Given the description of an element on the screen output the (x, y) to click on. 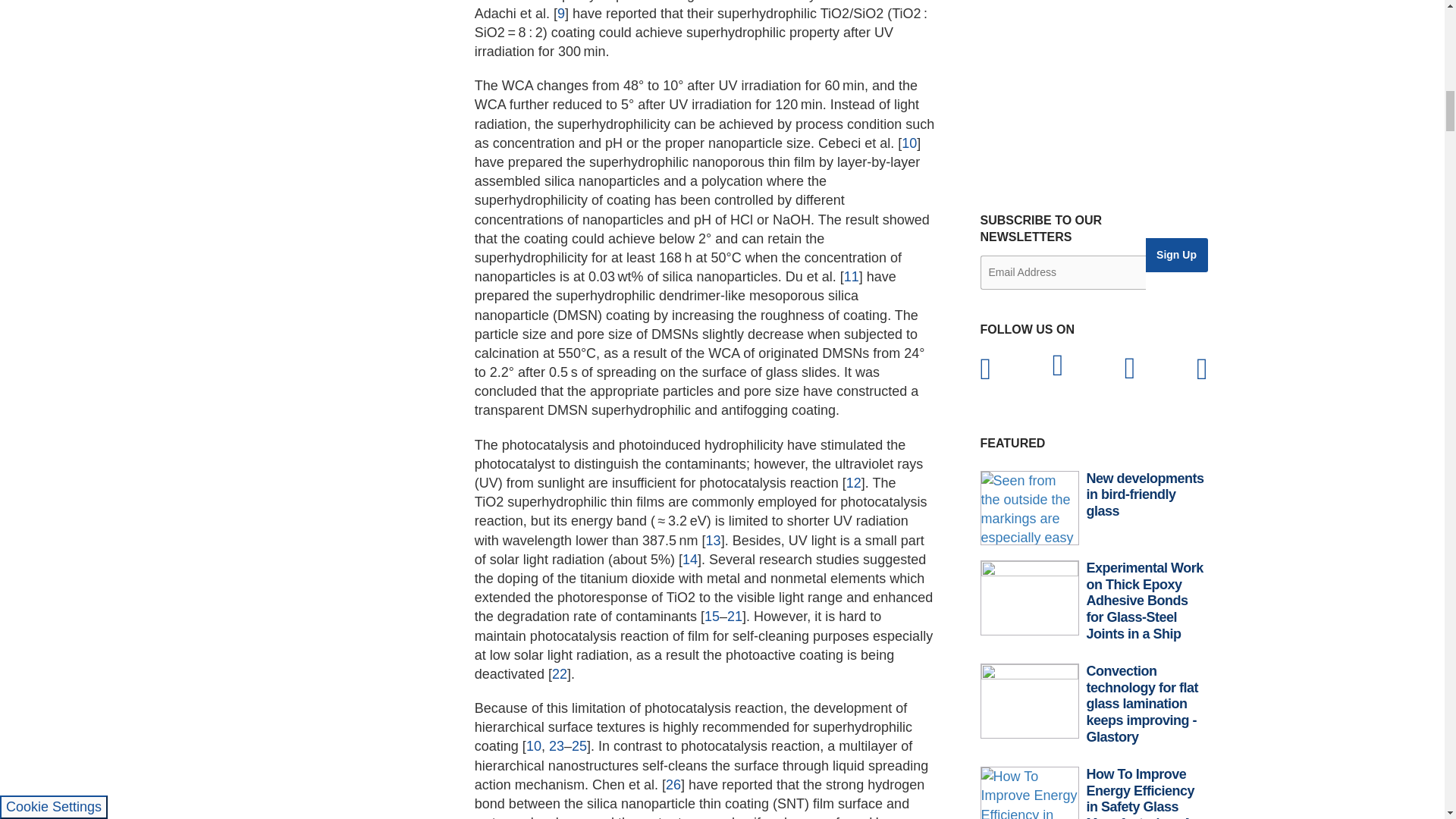
12 (853, 482)
10 (909, 142)
Sign up (1175, 254)
3rd party ad content (1093, 83)
11 (851, 276)
